Given the description of an element on the screen output the (x, y) to click on. 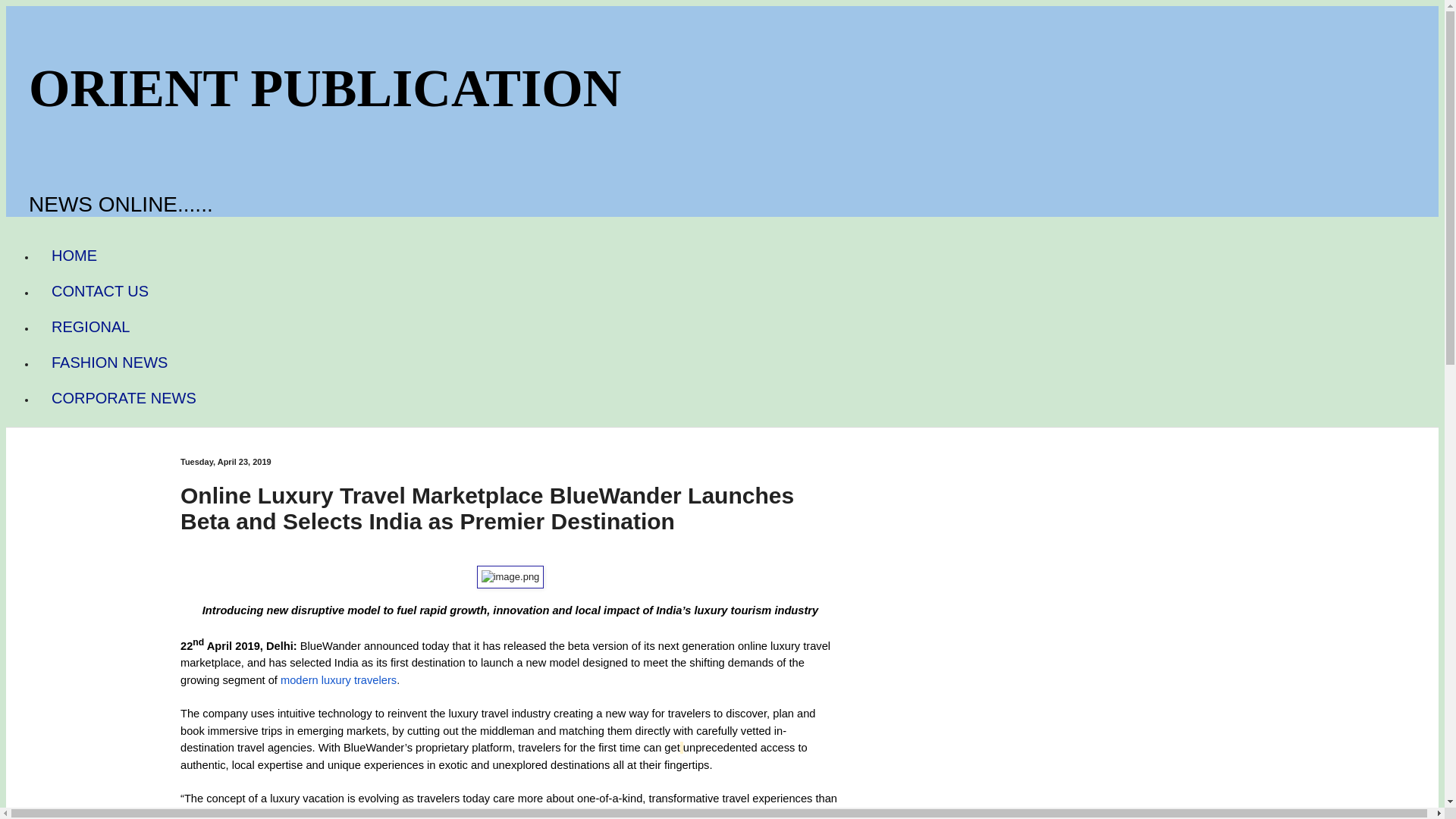
REGIONAL (90, 326)
FASHION NEWS (109, 362)
CORPORATE NEWS (123, 398)
modern luxury travelers (338, 679)
ORIENT PUBLICATION (325, 87)
HOME (74, 255)
CONTACT US (99, 291)
